Given the description of an element on the screen output the (x, y) to click on. 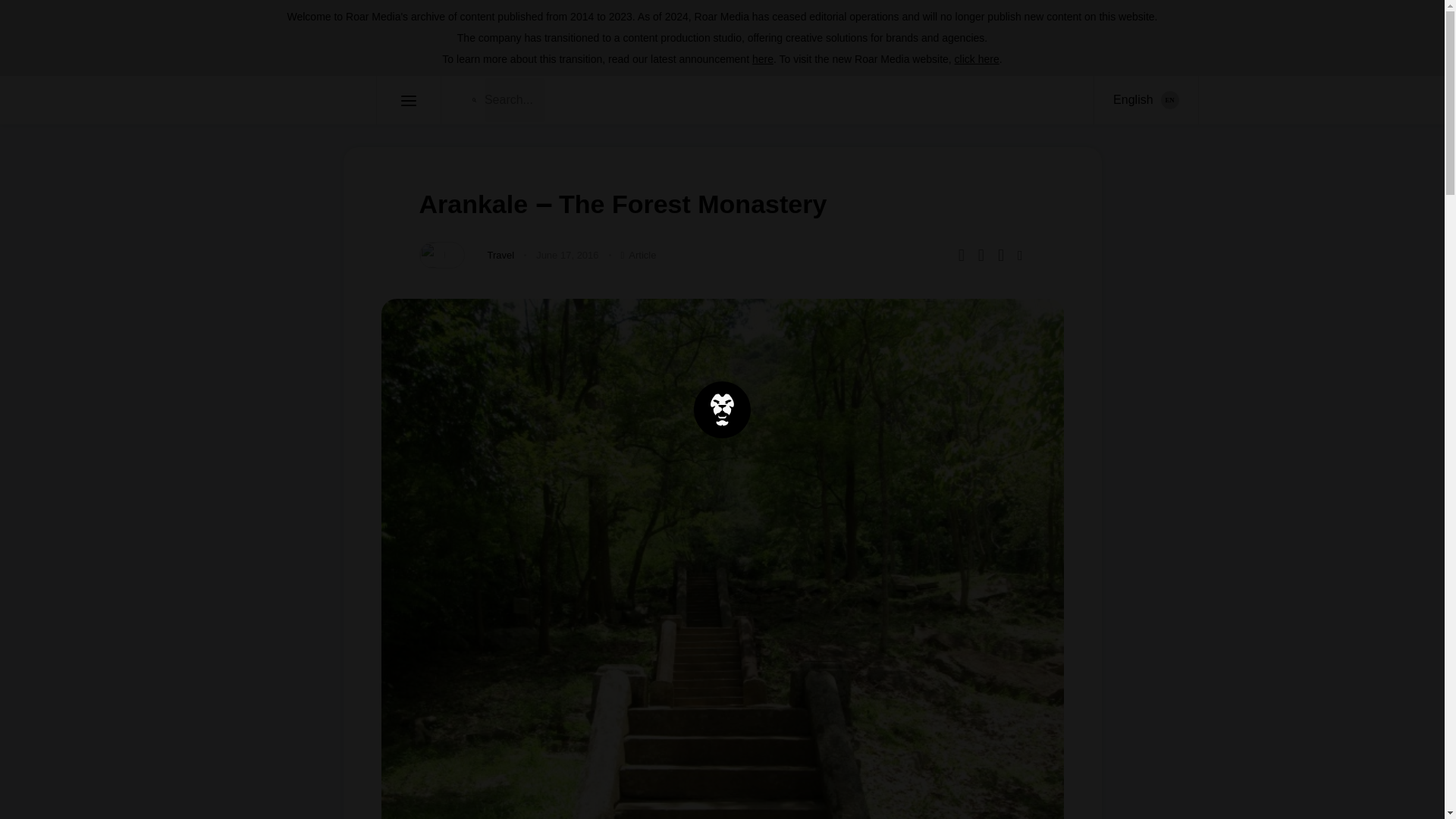
here (762, 59)
Travel (499, 255)
click here (976, 59)
